Given the description of an element on the screen output the (x, y) to click on. 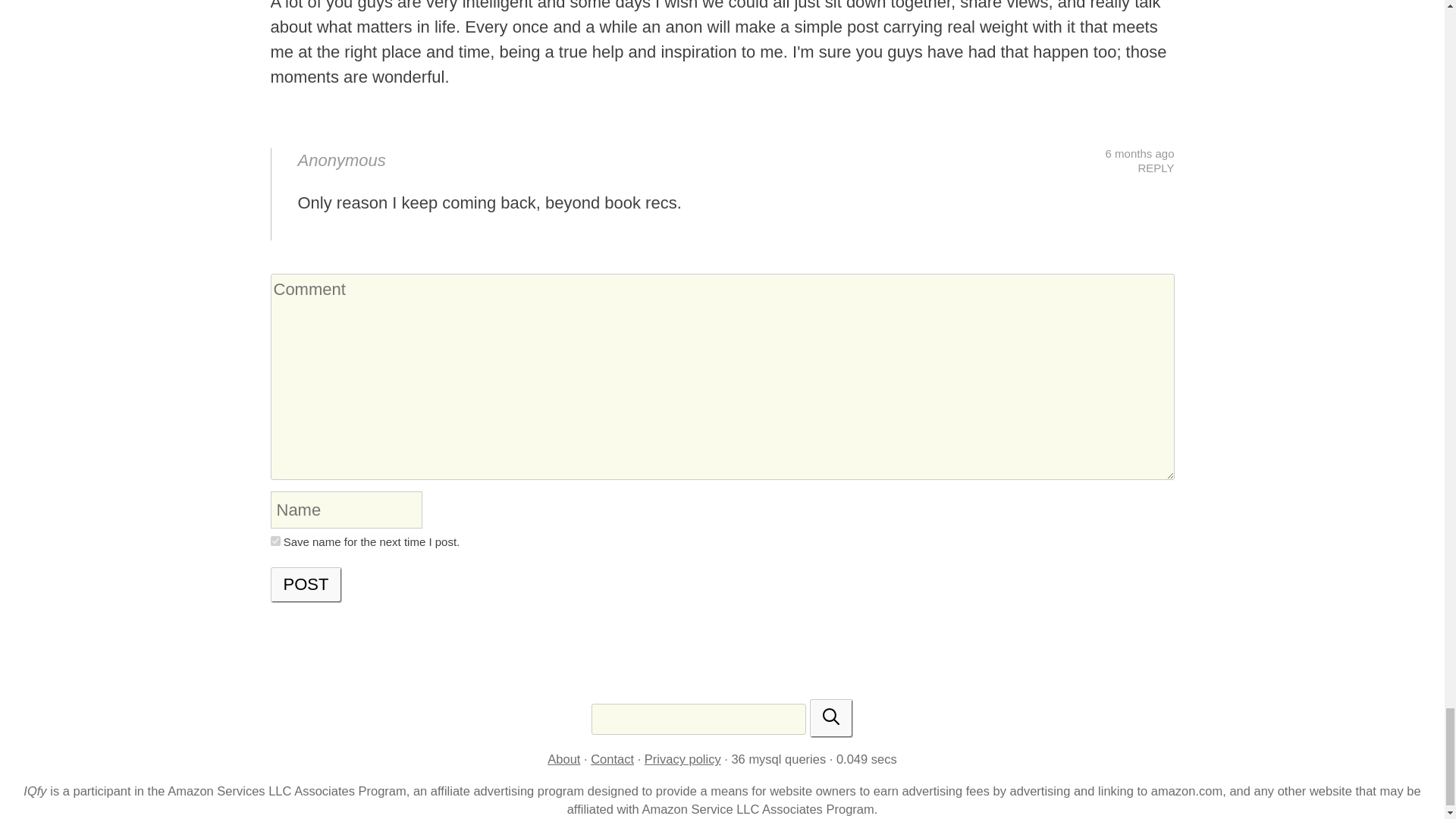
REPLY (1155, 167)
yes (274, 541)
Post (305, 584)
Search for: (698, 718)
